Given the description of an element on the screen output the (x, y) to click on. 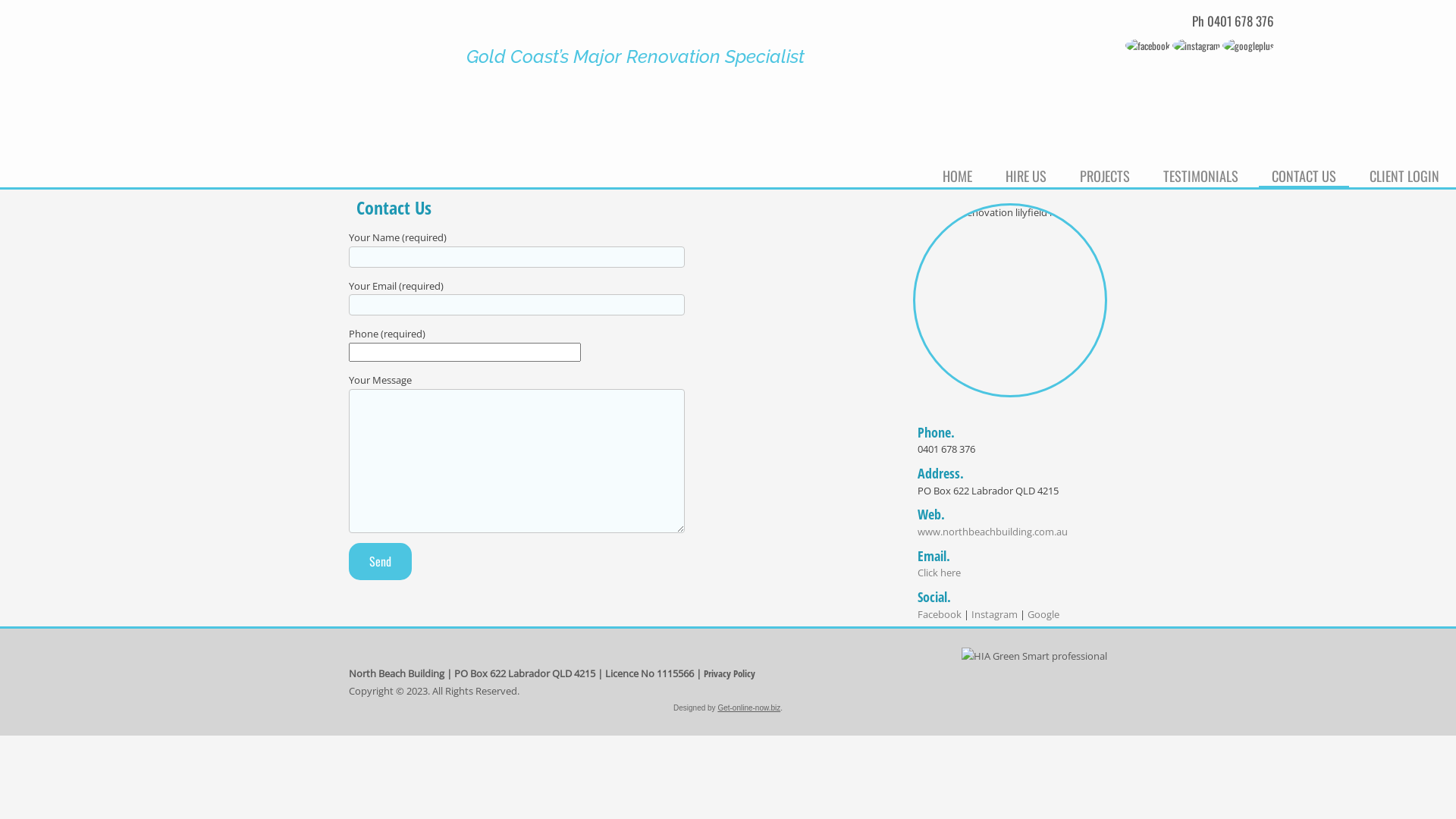
www.northbeachbuilding.com.au Element type: text (992, 531)
Send Element type: text (379, 561)
CONTACT US Element type: text (1303, 174)
HOME Element type: text (957, 173)
Click here Element type: text (938, 572)
facebook Element type: hover (1147, 45)
PROJECTS Element type: text (1104, 173)
instagram Element type: hover (1196, 45)
TESTIMONIALS Element type: text (1200, 173)
google business page Element type: hover (1248, 45)
Facebook Element type: text (939, 614)
HIRE US Element type: text (1025, 173)
Get-online-now.biz Element type: text (748, 707)
CLIENT LOGIN Element type: text (1404, 173)
0401 678 376 Element type: text (1240, 20)
Instagram Element type: text (994, 614)
Google Element type: text (1043, 614)
Privacy Policy Element type: text (729, 673)
